Given the description of an element on the screen output the (x, y) to click on. 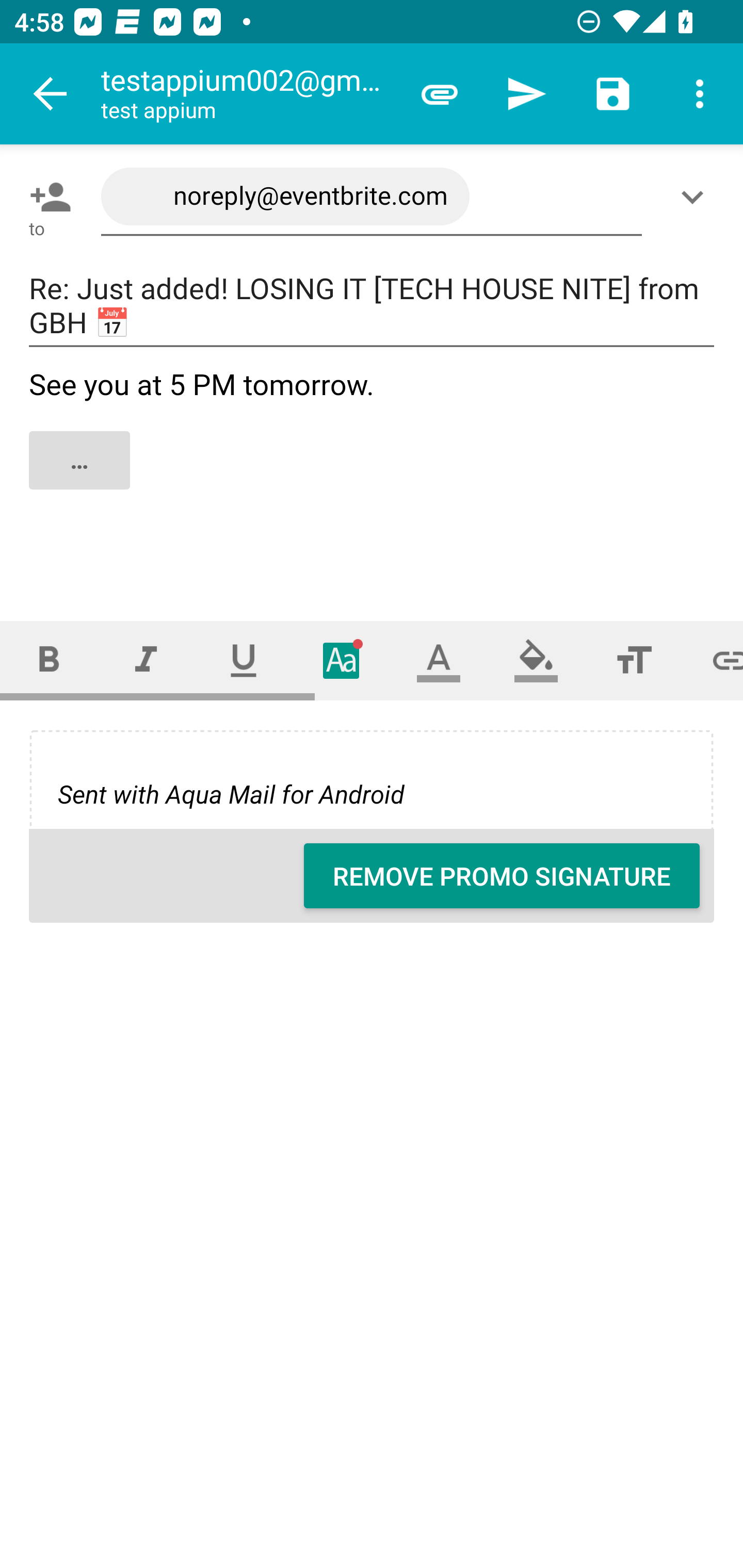
Navigate up (50, 93)
testappium002@gmail.com test appium (248, 93)
Attach (439, 93)
Send (525, 93)
Save (612, 93)
More options (699, 93)
noreply@eventbrite.com,  (371, 197)
Pick contact: To (46, 196)
Show/Add CC/BCC (696, 196)
See you at 5 PM tomorrow.
…
 (372, 477)
Bold (48, 660)
Italic (145, 660)
Underline (243, 660)
Typeface (font) (341, 660)
Text color (438, 660)
Fill color (536, 660)
Font size (633, 660)
Set link (712, 660)
REMOVE PROMO SIGNATURE (501, 875)
